Given the description of an element on the screen output the (x, y) to click on. 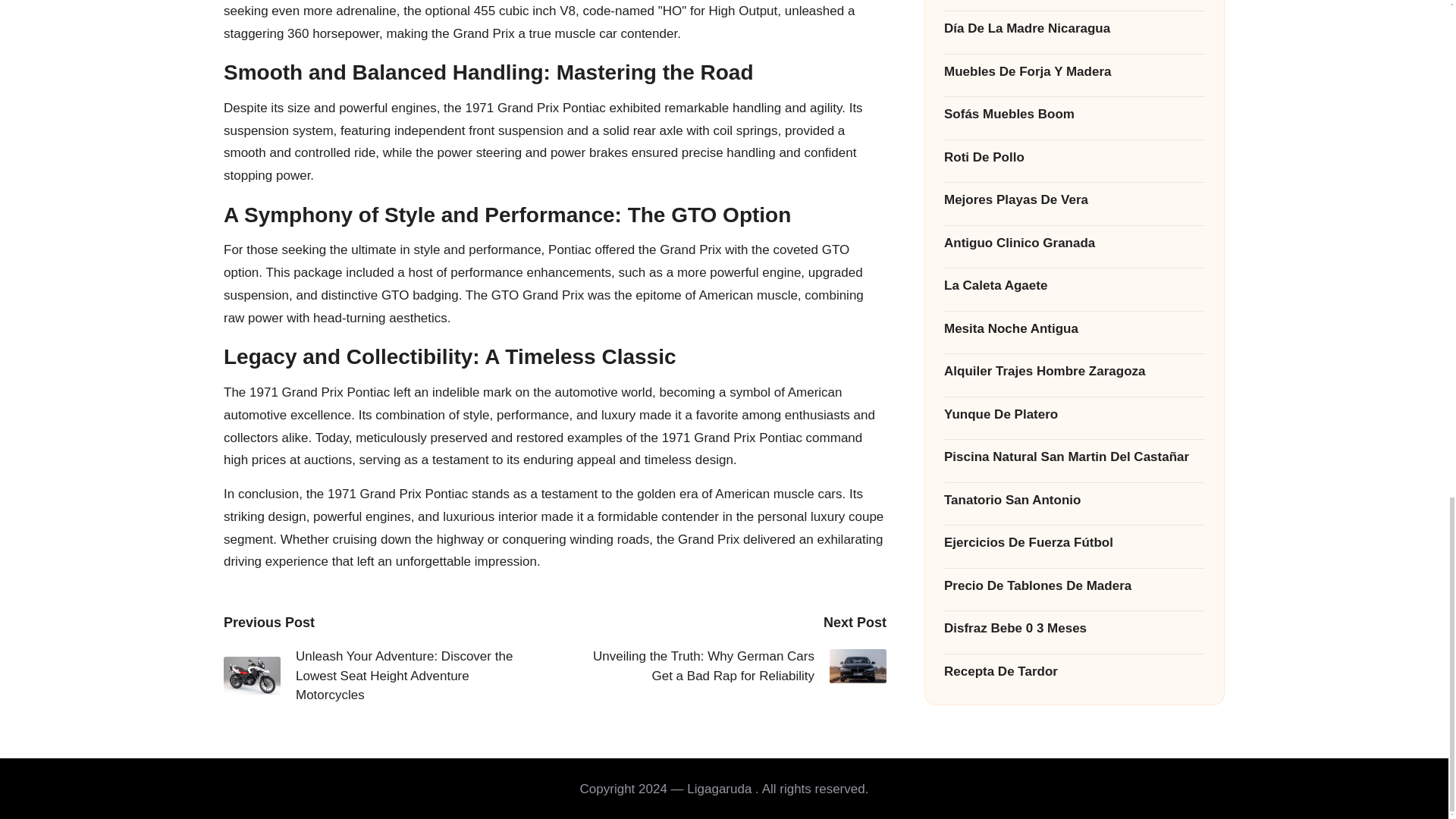
Alquiler Trajes Hombre Zaragoza (1074, 73)
Mesita Noche Antigua (1074, 30)
Yunque De Platero (1074, 116)
